Given the description of an element on the screen output the (x, y) to click on. 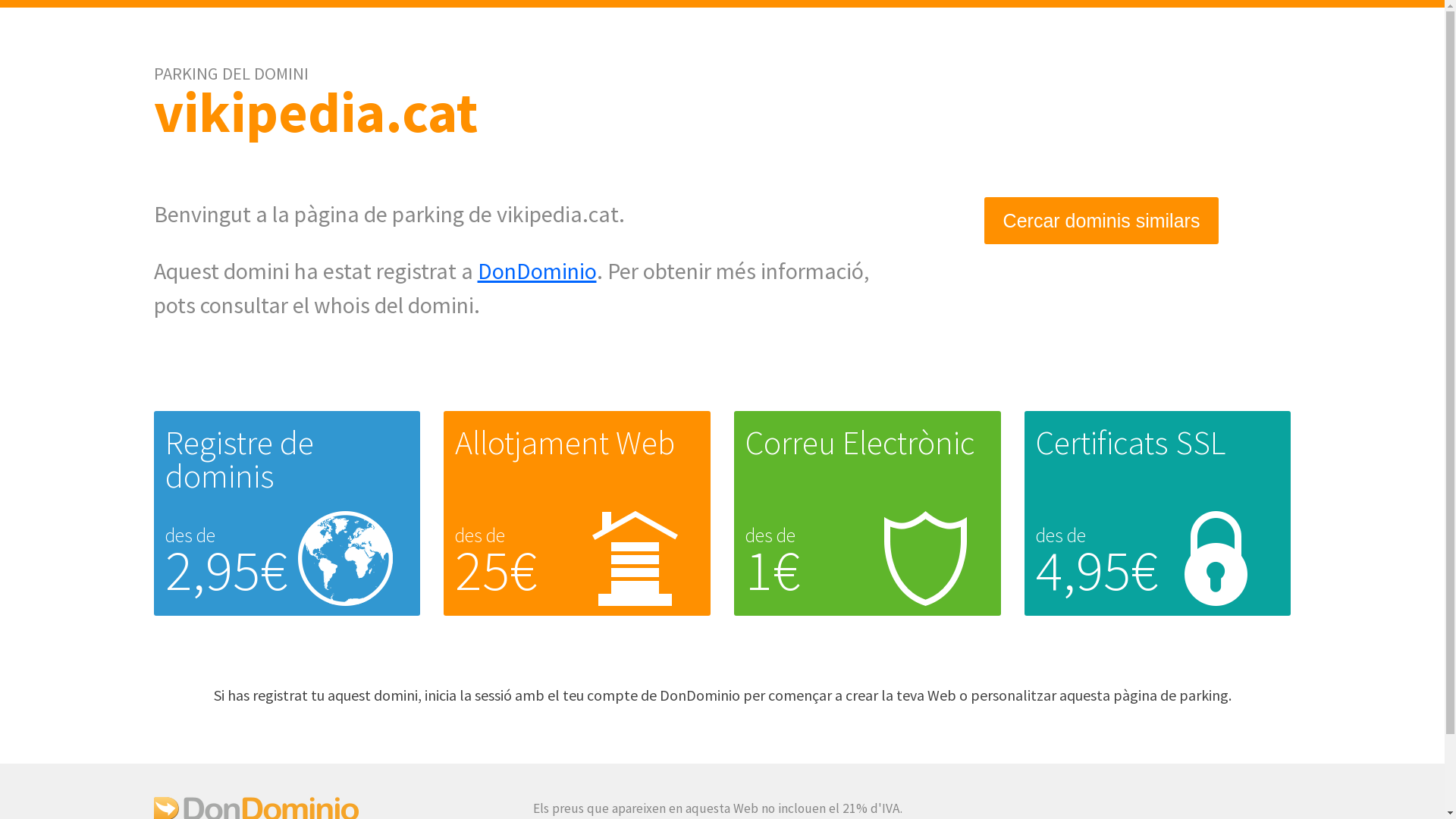
Certificats SSL Element type: text (1130, 442)
DonDominio Element type: text (536, 270)
Allotjament Web Element type: text (564, 442)
Cercar dominis similars Element type: text (1101, 220)
Registre de dominis Element type: text (239, 458)
